Given the description of an element on the screen output the (x, y) to click on. 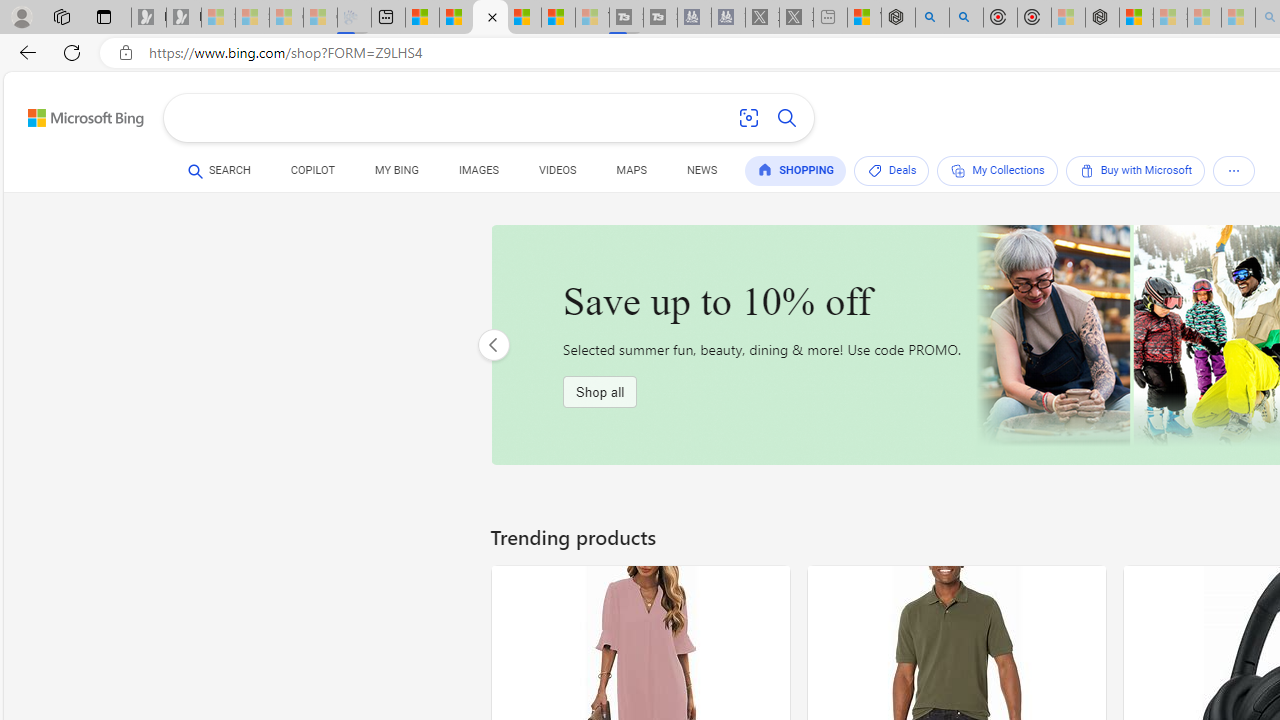
MAPS (631, 170)
See more (1233, 170)
COPILOT (311, 170)
Deals (891, 170)
Wildlife - MSN (863, 17)
Search using an image (748, 117)
VIDEOS (557, 173)
X - Sleeping (795, 17)
AutomationID: b_primary_seeMore (1234, 170)
New tab (388, 17)
poe - Search (932, 17)
Nordace - Nordace Siena Is Not An Ordinary Backpack (1101, 17)
